Given the description of an element on the screen output the (x, y) to click on. 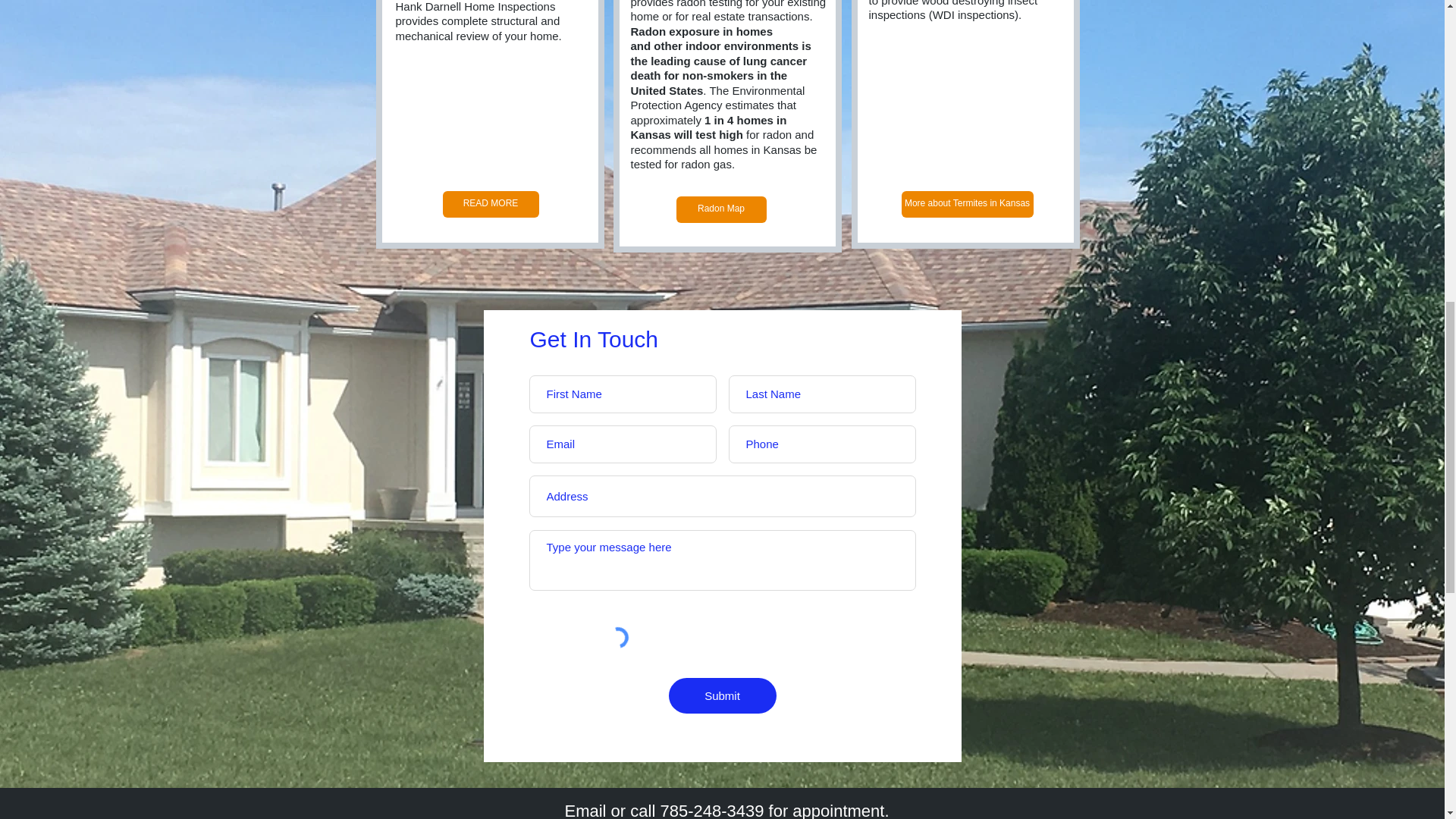
READ MORE (490, 203)
Radon Map (722, 209)
More about Termites in Kansas (966, 203)
Submit (722, 695)
